Given the description of an element on the screen output the (x, y) to click on. 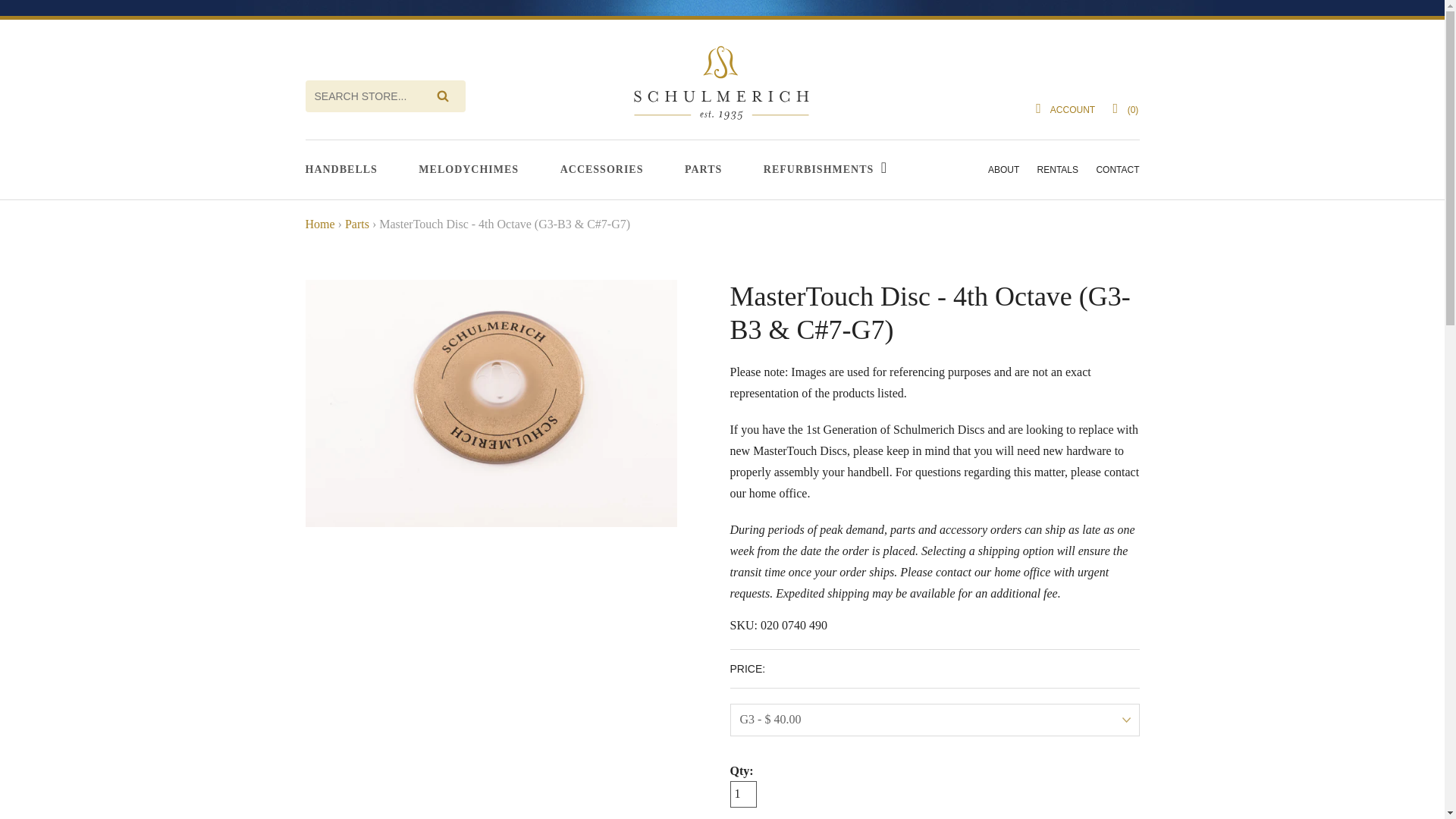
ACCOUNT (1061, 109)
Parts (357, 223)
Home (319, 223)
Search (442, 96)
ACCESSORIES (601, 169)
ABOUT (1003, 169)
1 (742, 794)
PARTS (703, 169)
Search (442, 96)
HANDBELLS (340, 169)
REFURBISHMENTS (819, 169)
CONTACT (1117, 169)
RENTALS (1057, 169)
MELODYCHIMES (468, 169)
Back to the frontpage (319, 223)
